Given the description of an element on the screen output the (x, y) to click on. 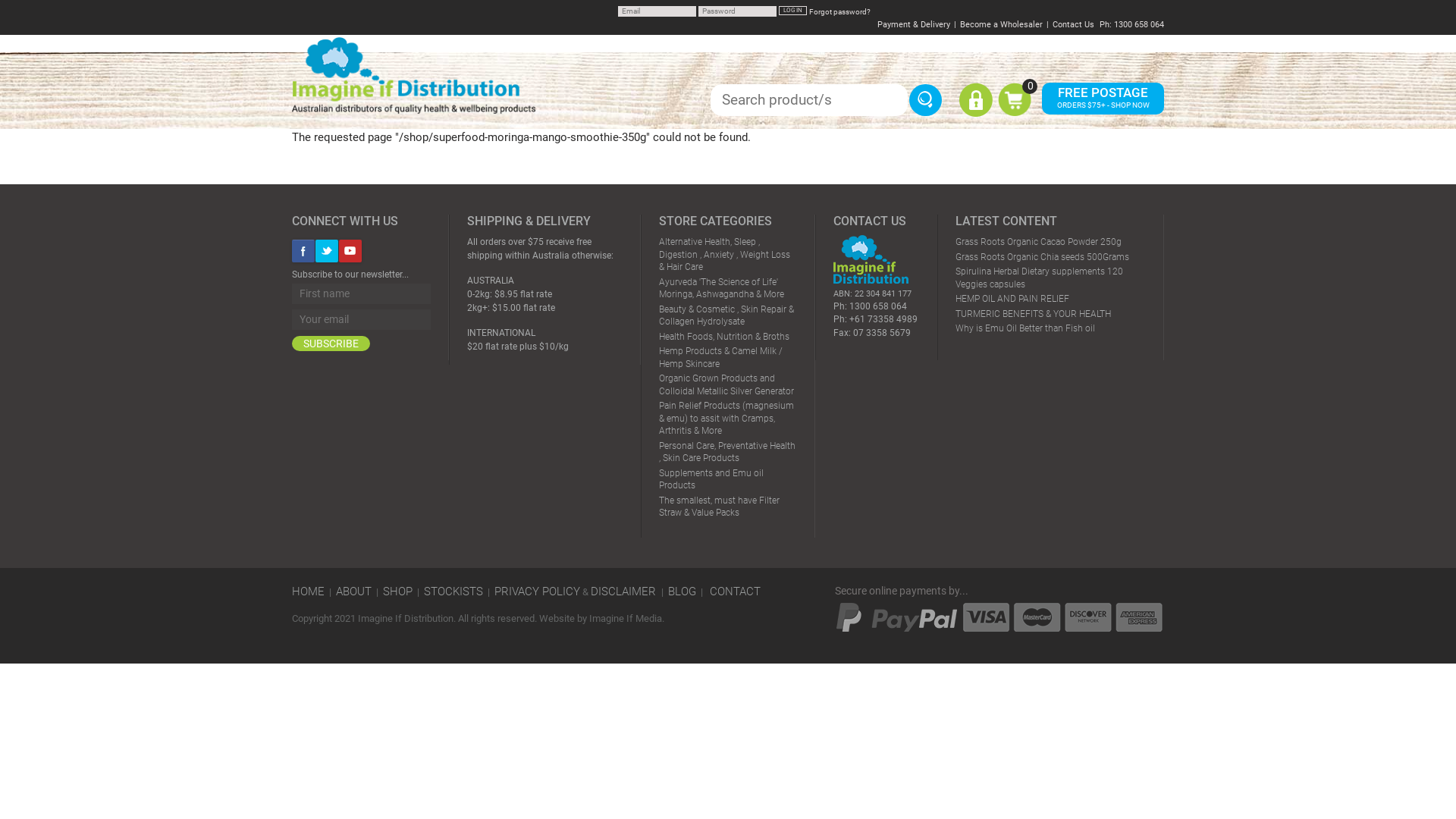
Subscribe Element type: text (330, 343)
HEMP OIL AND PAIN RELIEF Element type: text (1012, 298)
Contact Us Element type: text (1073, 24)
Youtube Element type: text (349, 250)
Imagine If Media Element type: text (625, 618)
The smallest, must have Filter Straw & Value Packs Element type: text (718, 506)
Spirulina Herbal Dietary supplements 120 Veggies capsules Element type: text (1039, 277)
Payment & Delivery Element type: text (913, 24)
Ayurveda 'The Science of Life' Moringa, Ashwagandha & More Element type: text (721, 288)
STOCKISTS Element type: text (453, 591)
Twitter Element type: text (326, 250)
Forgot password? Element type: text (839, 11)
ABOUT Element type: text (353, 591)
Go to homepage Element type: hover (413, 74)
Beauty & Cosmetic , Skin Repair & Collagen Hydrolysate Element type: text (725, 315)
Facebook Element type: text (302, 250)
Your cart Element type: hover (1014, 111)
Grass Roots Organic Chia seeds 500Grams Element type: text (1042, 256)
SHOP Element type: text (397, 591)
Hemp Products & Camel Milk / Hemp Skincare Element type: text (720, 357)
Personal Care, Preventative Health , Skin Care Products Element type: text (726, 452)
Become a Wholesaler Element type: text (1001, 24)
Enter the terms you wish to search for. Element type: hover (808, 99)
BLOG Element type: text (682, 591)
Grass Roots Organic Cacao Powder 250g Element type: text (1038, 241)
TURMERIC BENEFITS & YOUR HEALTH Element type: text (1032, 313)
Login Element type: hover (975, 112)
HOME Element type: text (307, 591)
Health Foods, Nutrition & Broths Element type: text (723, 336)
Supplements and Emu oil Products Element type: text (710, 479)
DISCLAIMER  Element type: text (624, 591)
Log in Element type: text (792, 10)
Why is Emu Oil Better than Fish oil Element type: text (1025, 328)
CONTACT Element type: text (734, 591)
FREE POSTAGE
ORDERS $75+ - SHOP NOW Element type: text (1102, 97)
PRIVACY POLICY Element type: text (537, 591)
